Given the description of an element on the screen output the (x, y) to click on. 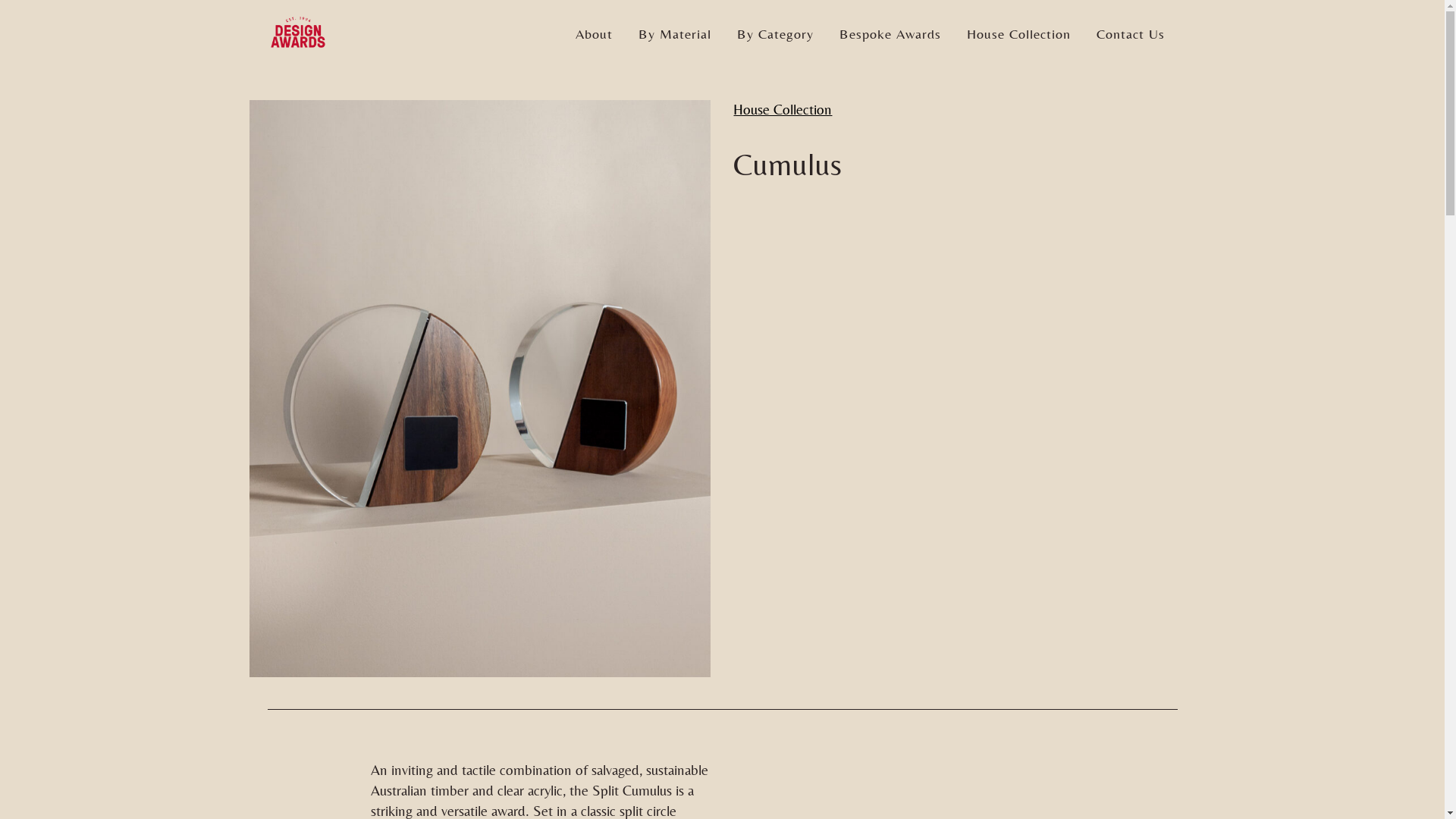
House Collection Element type: text (1018, 34)
By Category Element type: text (774, 34)
By Material Element type: text (673, 34)
Contact Us Element type: text (1129, 34)
About Element type: text (593, 34)
House Collection Element type: text (782, 109)
Bespoke Awards Element type: text (889, 34)
